Given the description of an element on the screen output the (x, y) to click on. 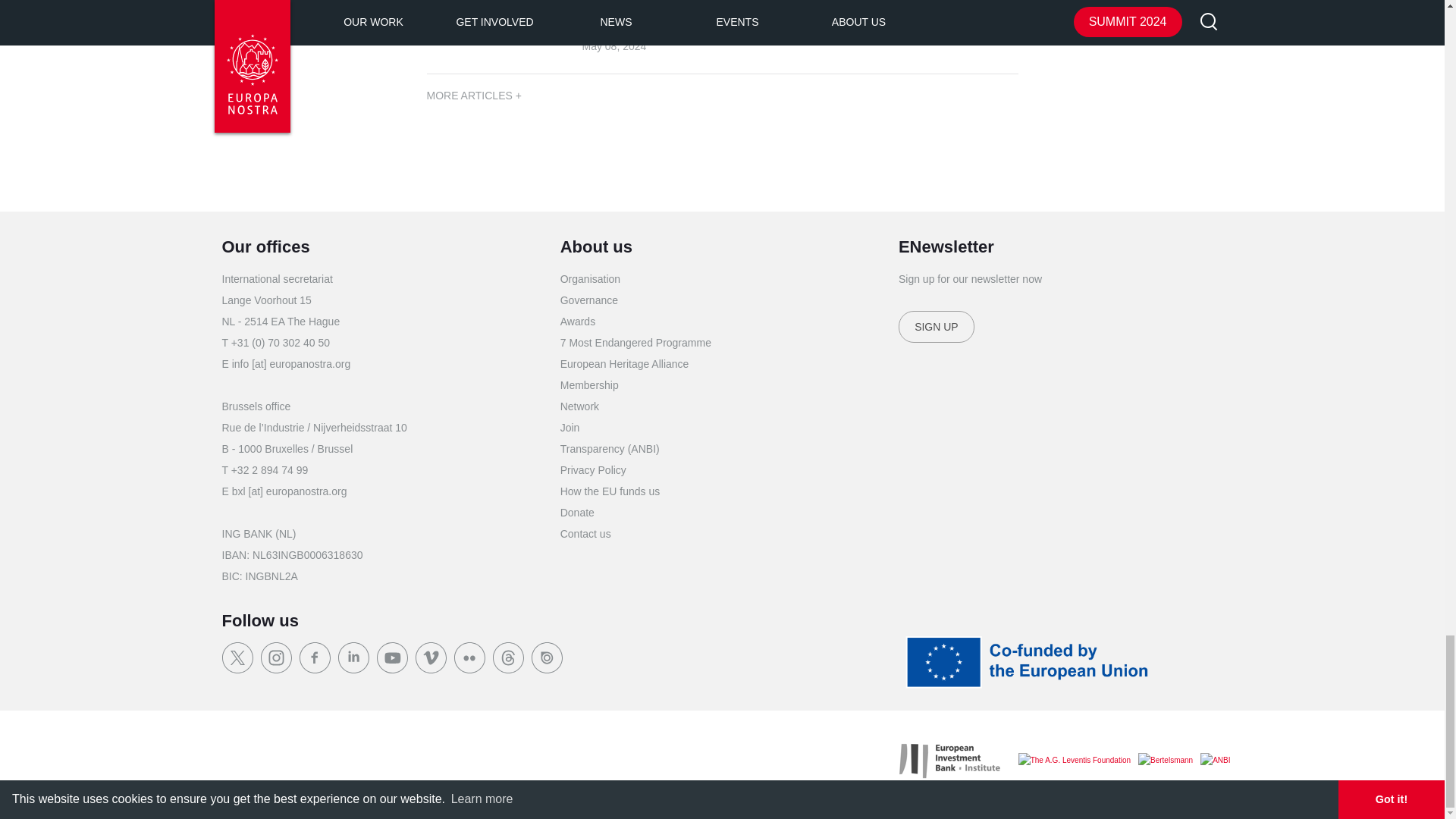
ANBI (1214, 760)
Bertelsmann (1165, 760)
EIB Institute (949, 760)
The A.G. Leventis Foundation (1074, 760)
